Given the description of an element on the screen output the (x, y) to click on. 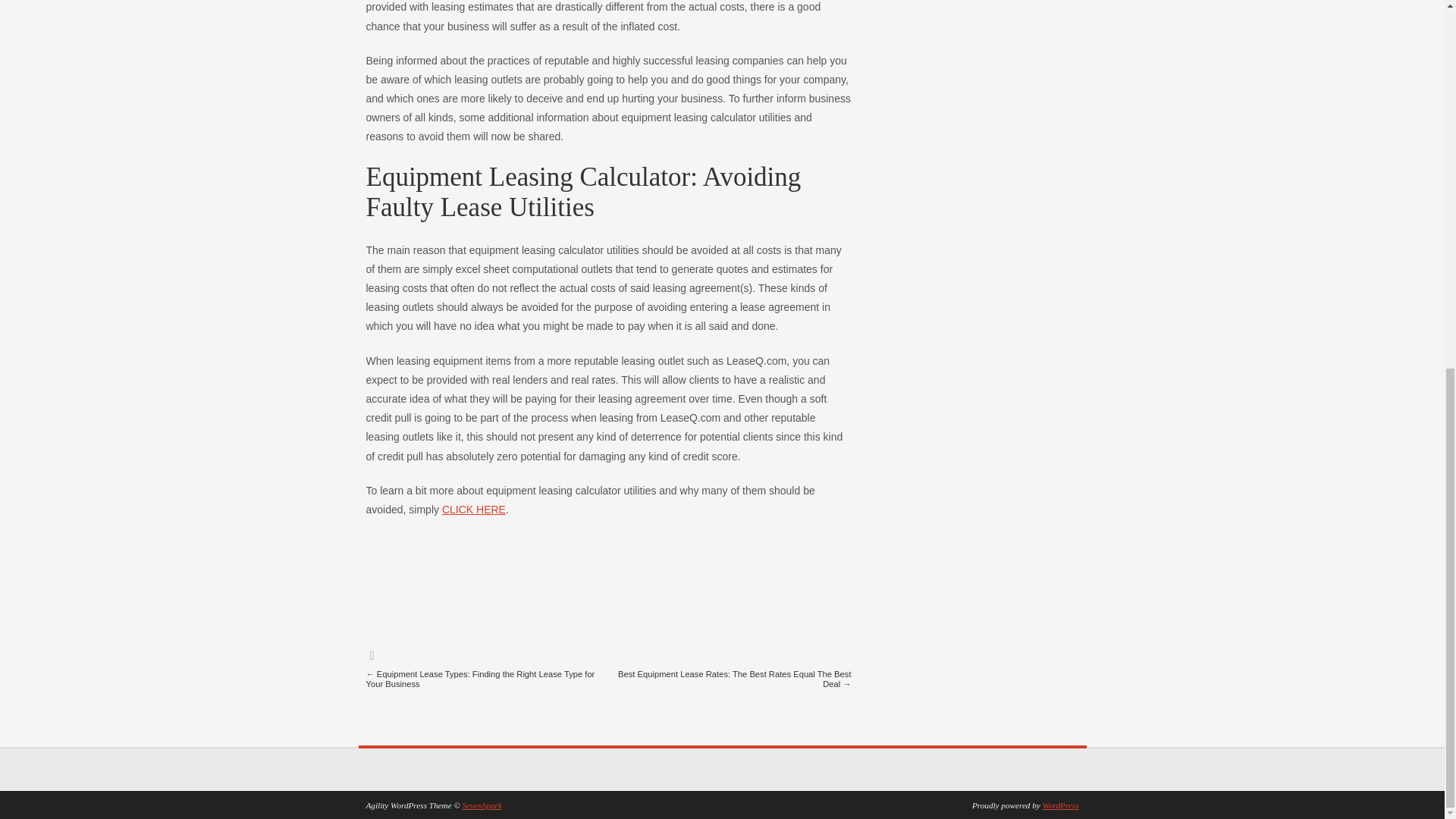
SevenSpark (482, 804)
WordPress (1060, 804)
CLICK HERE (473, 509)
